Given the description of an element on the screen output the (x, y) to click on. 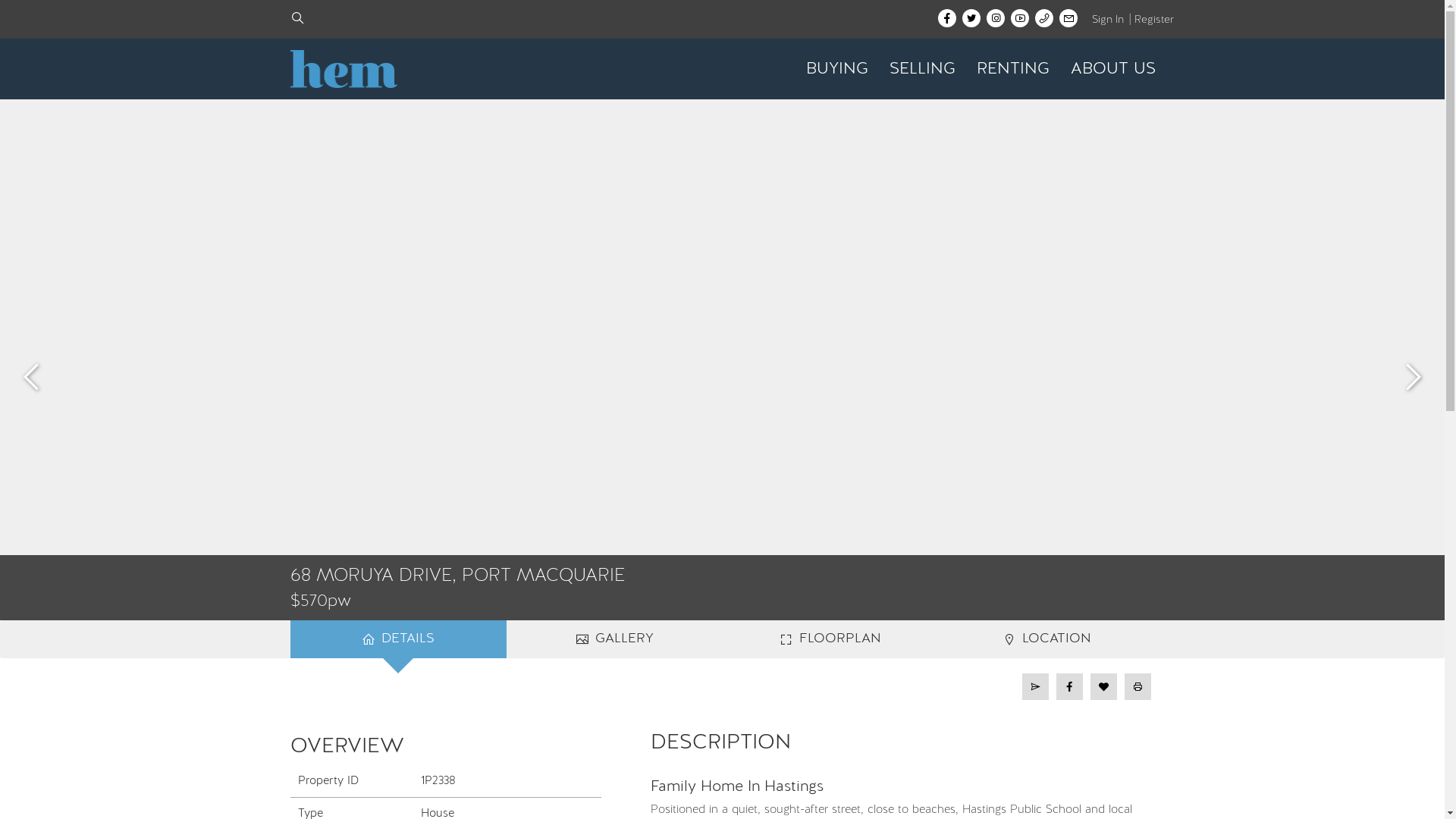
BUYING Element type: text (836, 68)
LOCATION Element type: text (1046, 639)
RENTING Element type: text (1013, 68)
GALLERY Element type: text (614, 639)
Sign In Element type: text (1107, 19)
FLOORPLAN Element type: text (829, 639)
SELLING Element type: text (921, 68)
ABOUT US Element type: text (1113, 68)
Register Element type: text (1154, 19)
Email to Friend Element type: hover (1035, 686)
DETAILS Element type: text (397, 639)
